Given the description of an element on the screen output the (x, y) to click on. 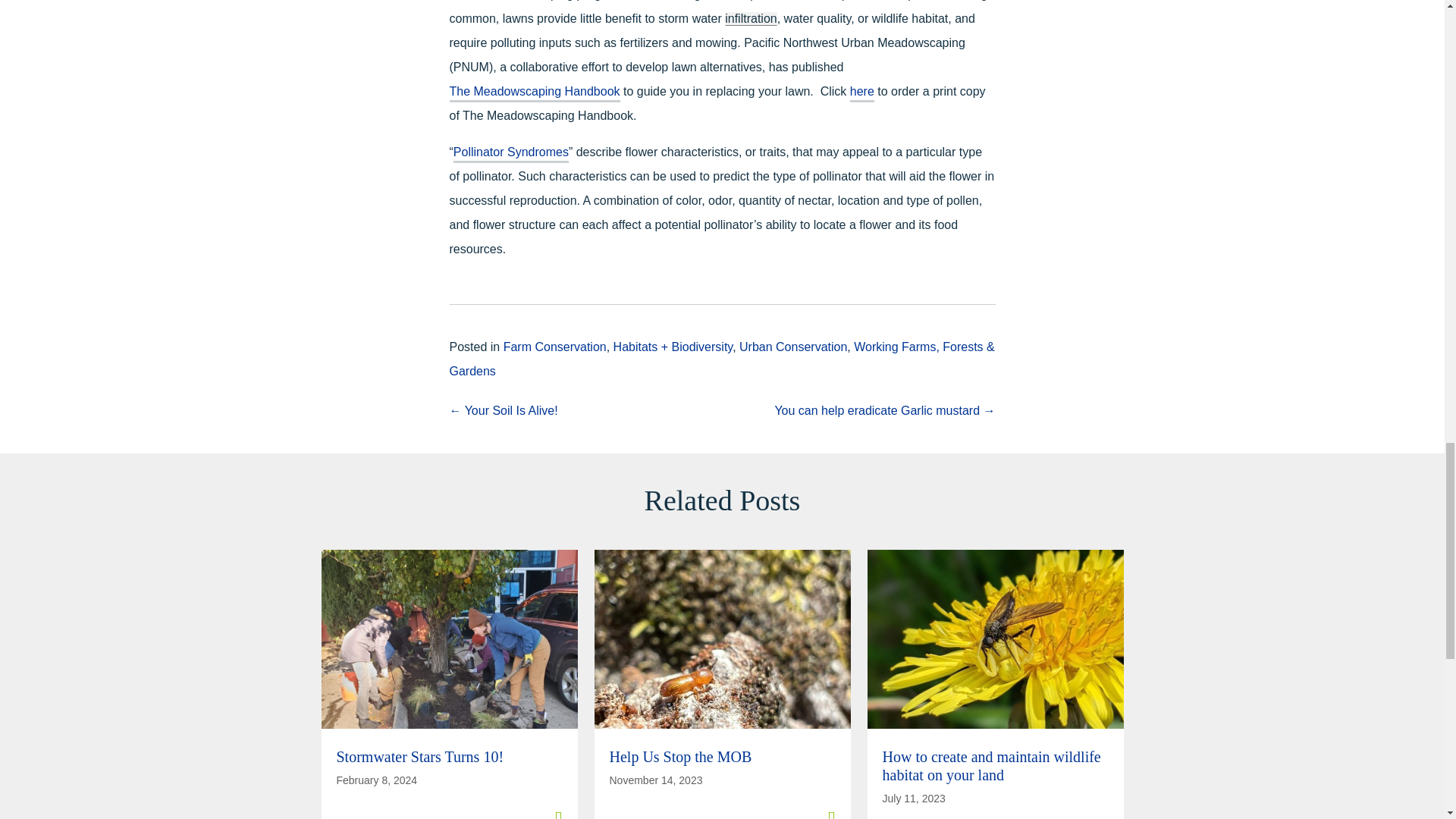
Stormwater Stars Turns 10! (419, 756)
Stormwater Stars community (449, 638)
Stormwater Stars Turns 10! (449, 808)
